Given the description of an element on the screen output the (x, y) to click on. 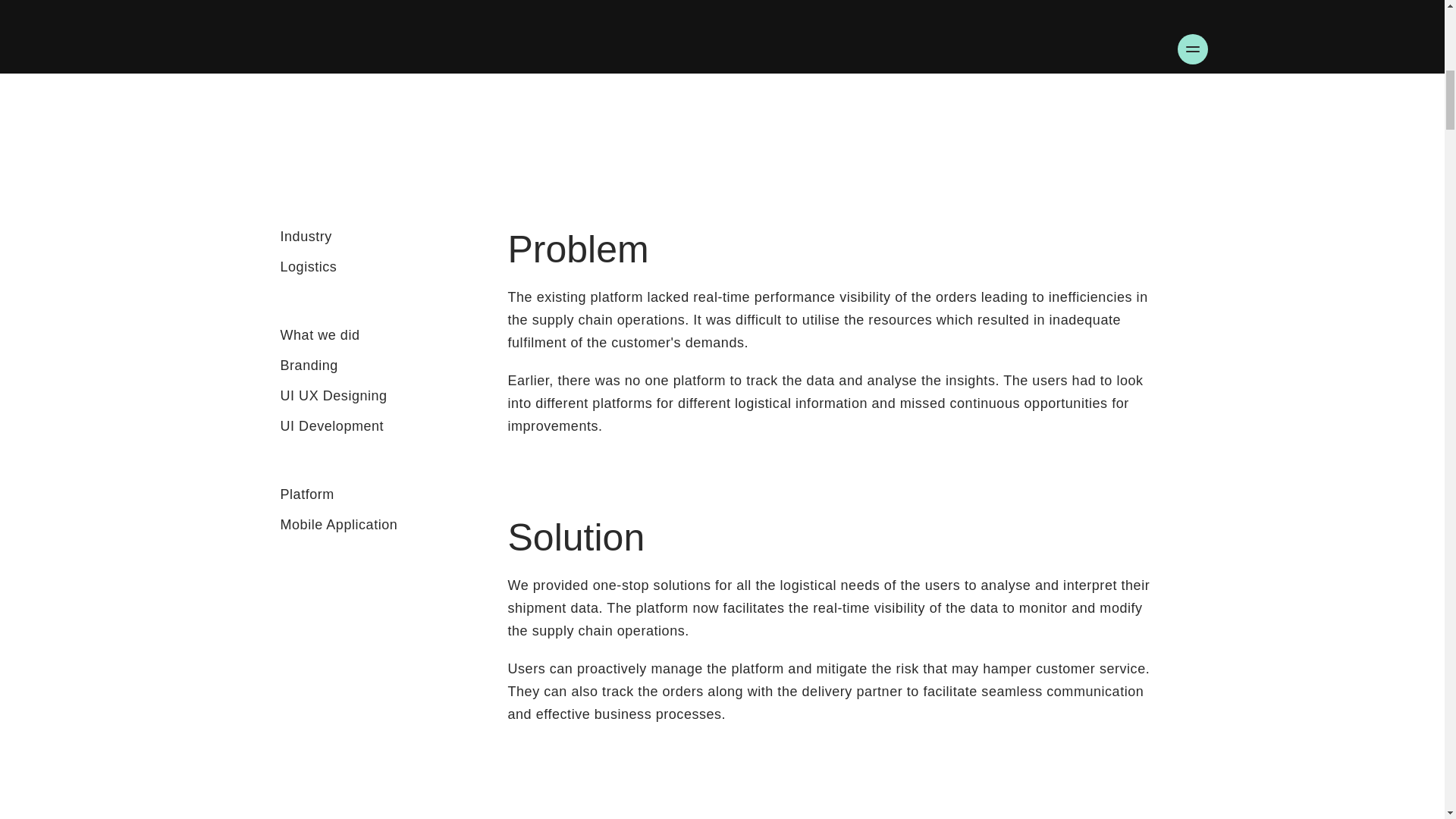
Services (662, 47)
Projects (591, 47)
Contact (812, 47)
About (726, 47)
